Given the description of an element on the screen output the (x, y) to click on. 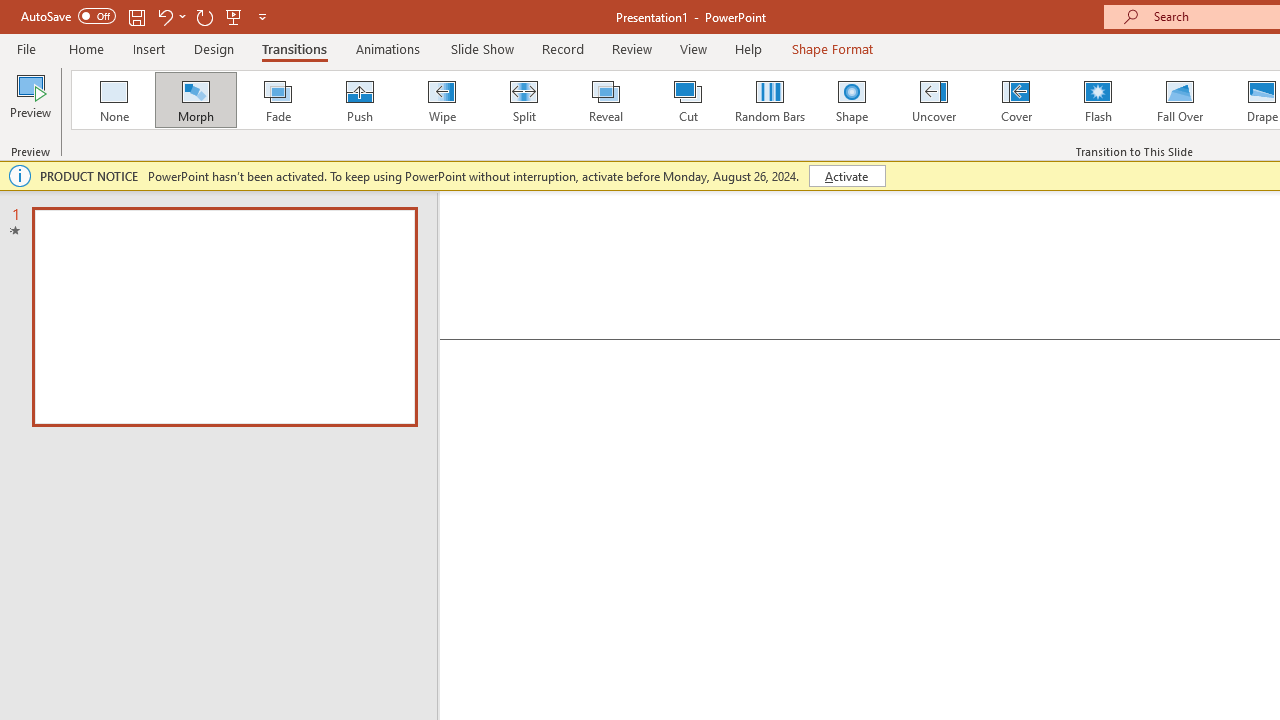
Wipe (441, 100)
Split (523, 100)
Random Bars (770, 100)
None (113, 100)
Fall Over (1180, 100)
Uncover (934, 100)
